Given the description of an element on the screen output the (x, y) to click on. 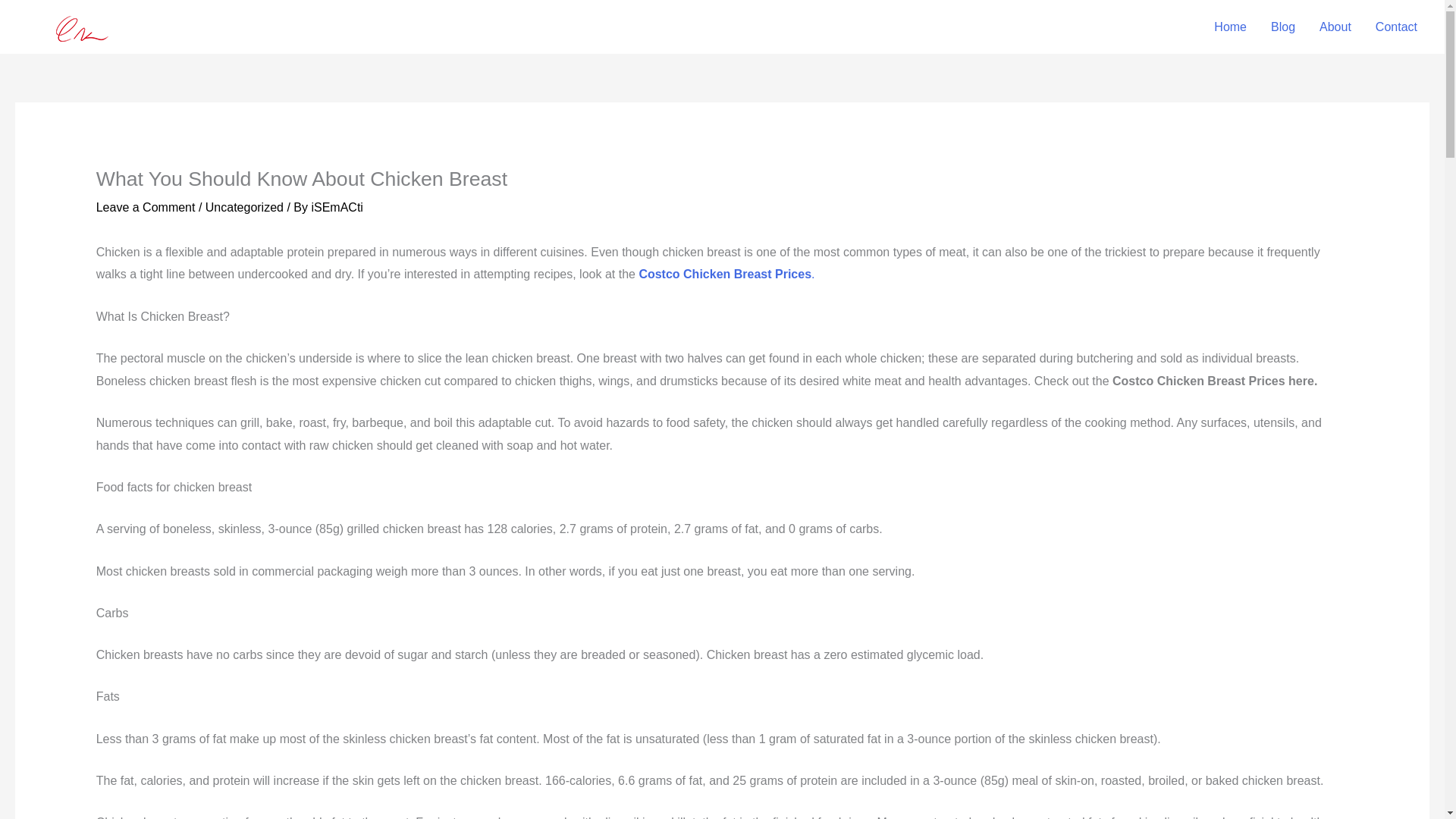
View all posts by iSEmACti (336, 206)
About (1334, 26)
Home (1230, 26)
Blog (1283, 26)
Contact (1395, 26)
Leave a Comment (145, 206)
Costco Chicken Breast Prices. (726, 273)
Uncategorized (244, 206)
iSEmACti (336, 206)
